Given the description of an element on the screen output the (x, y) to click on. 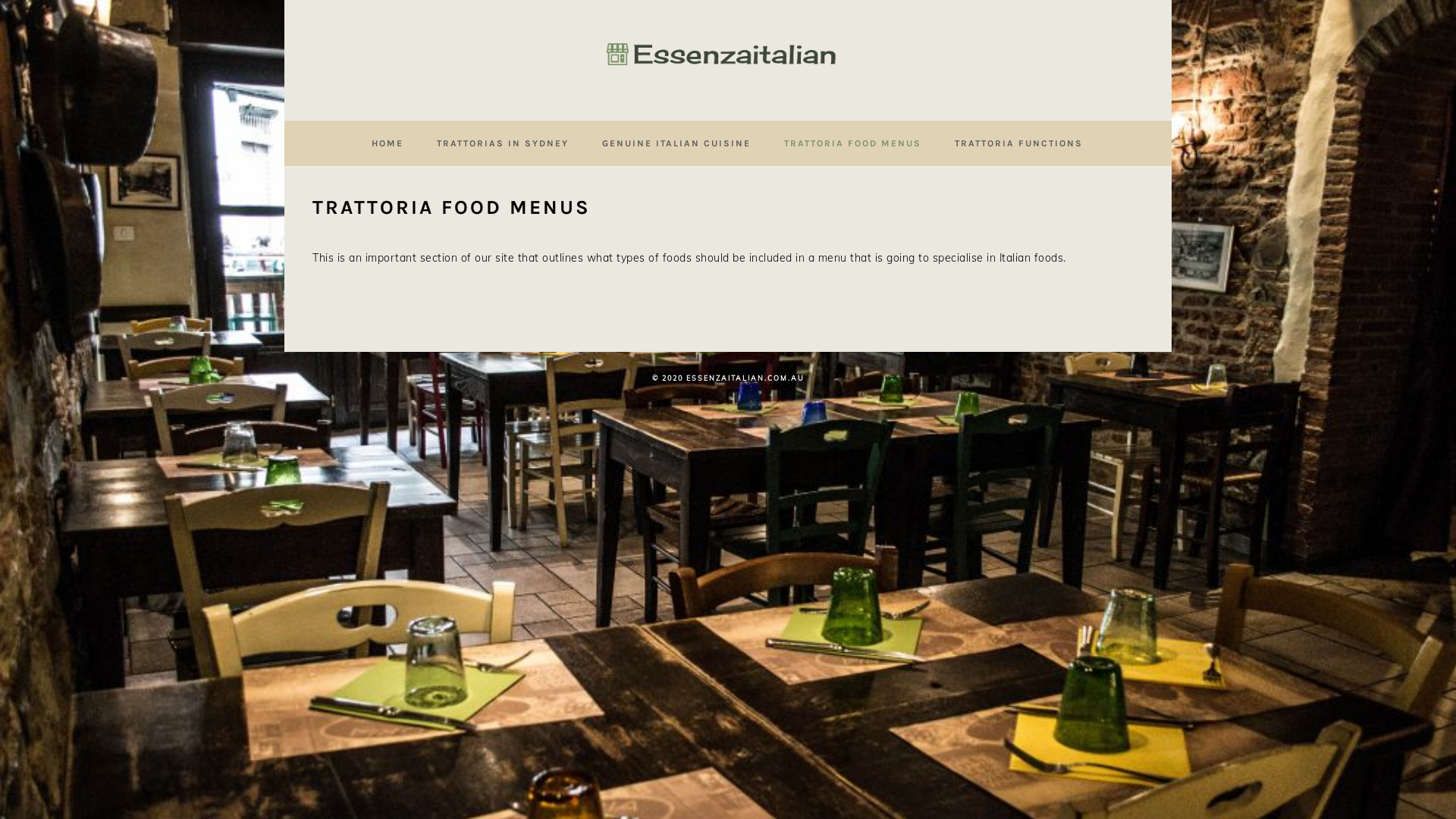
Skip to primary navigation Element type: text (0, 0)
TRATTORIAS IN SYDNEY Element type: text (502, 142)
TRATTORIA FOOD MENUS Element type: text (852, 142)
TRATTORIA FUNCTIONS Element type: text (1018, 142)
GENUINE ITALIAN CUISINE Element type: text (676, 142)
ESSENZAITALIAN.COM.AU Element type: text (727, 59)
HOME Element type: text (387, 142)
